Given the description of an element on the screen output the (x, y) to click on. 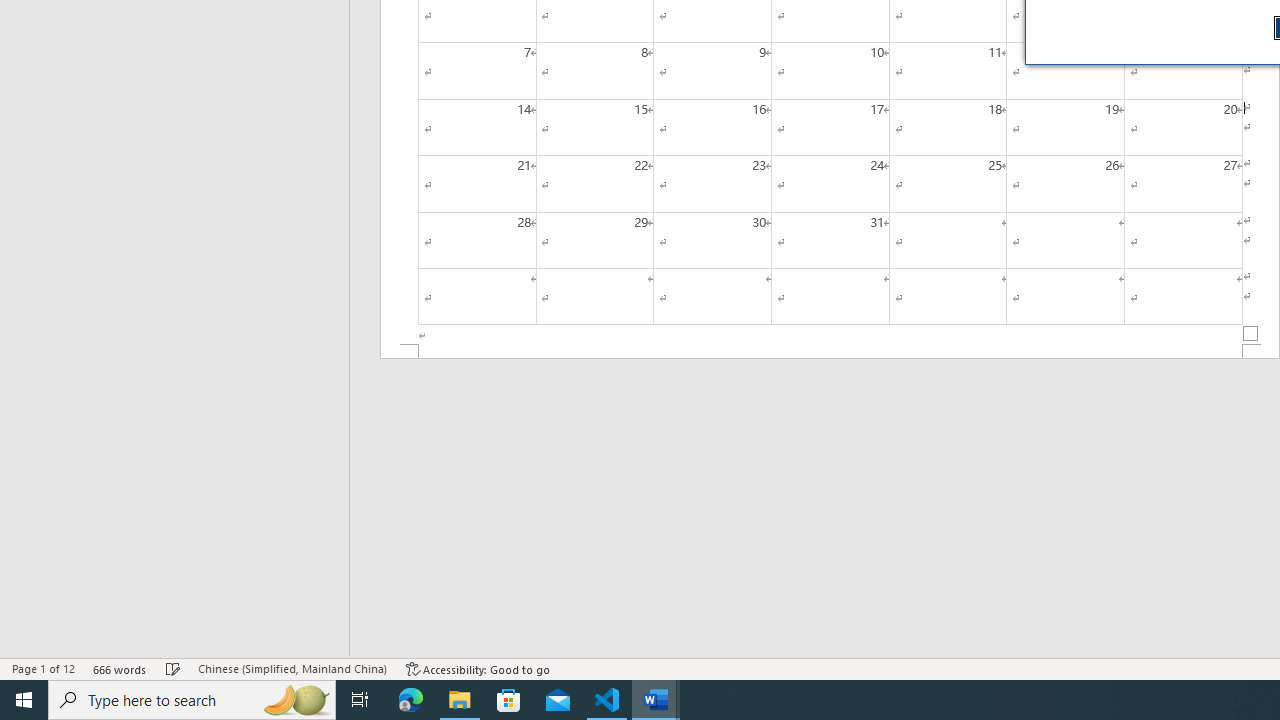
Accessibility Checker Accessibility: Good to go (478, 668)
Word - 2 running windows (656, 699)
Start (24, 699)
Task View (359, 699)
Page Number Page 1 of 12 (43, 668)
Type here to search (191, 699)
Visual Studio Code - 1 running window (607, 699)
Microsoft Store (509, 699)
Word Count 666 words (119, 668)
Footer -Section 1- (830, 351)
Spelling and Grammar Check Checking (173, 668)
Search highlights icon opens search home window (295, 699)
File Explorer - 1 running window (460, 699)
